Given the description of an element on the screen output the (x, y) to click on. 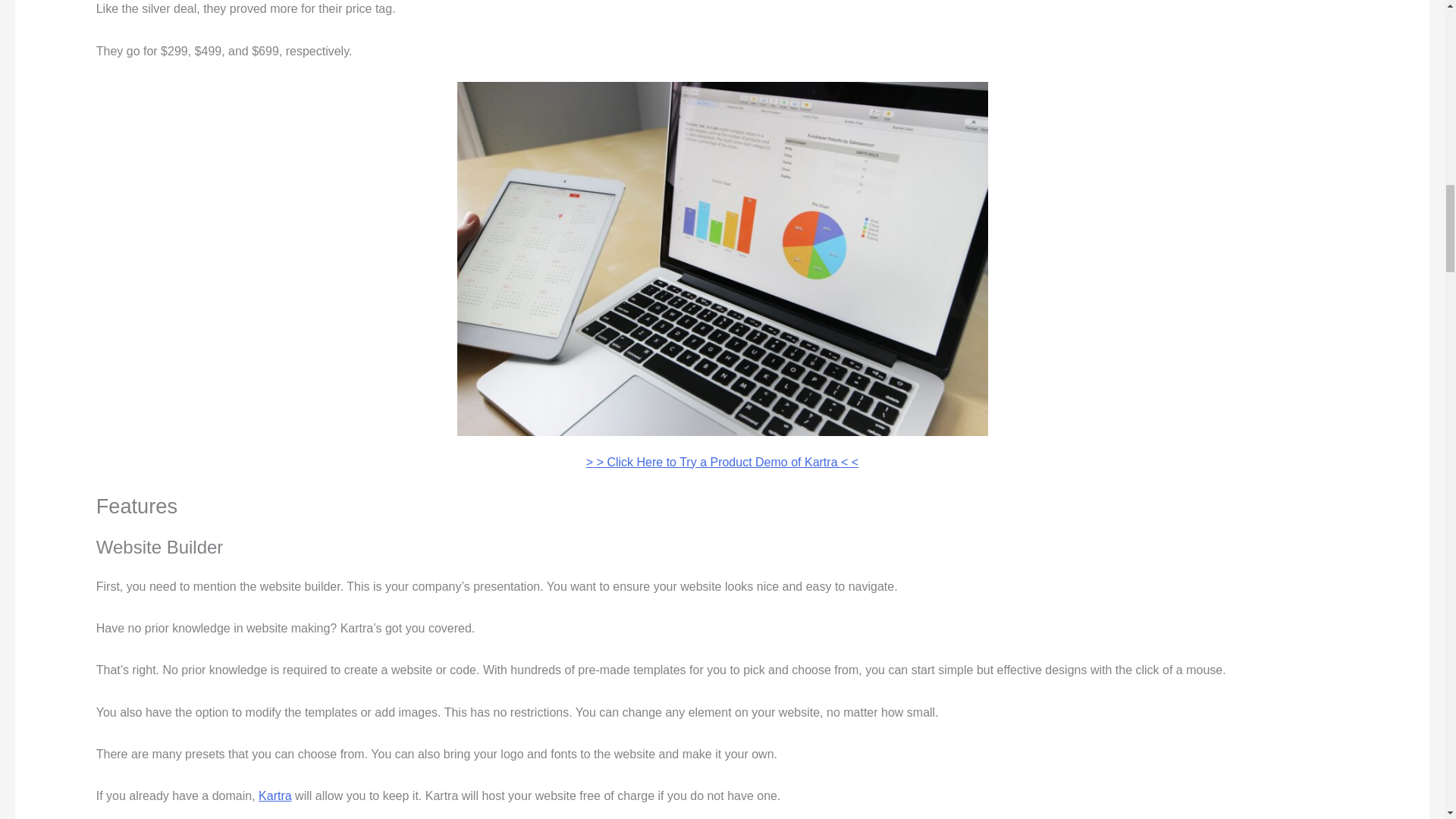
Kartra (275, 795)
